Given the description of an element on the screen output the (x, y) to click on. 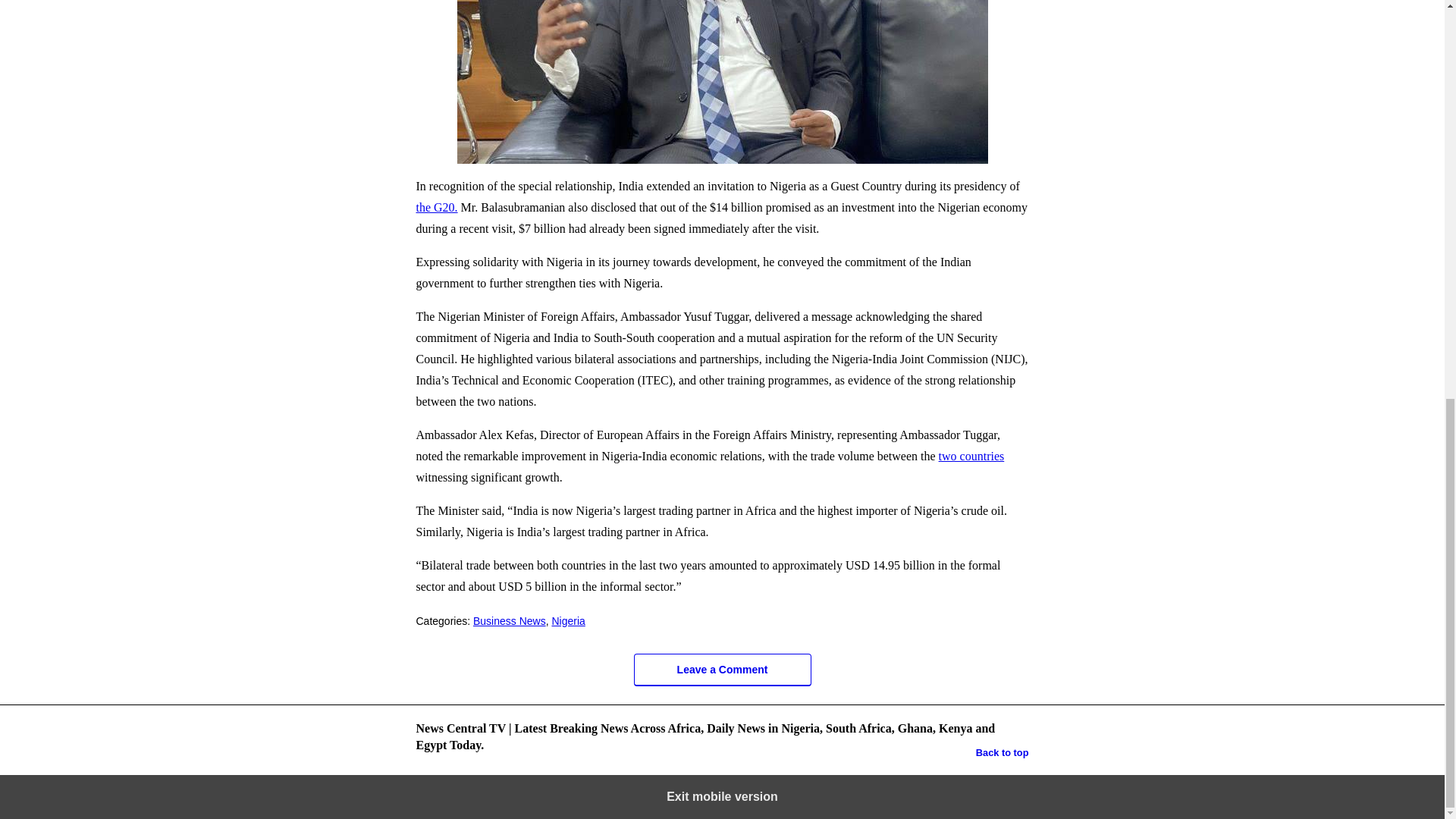
the G20. (435, 206)
Leave a Comment (721, 669)
Nigeria (568, 621)
two countries (971, 455)
Back to top (1002, 752)
Business News (509, 621)
